Given the description of an element on the screen output the (x, y) to click on. 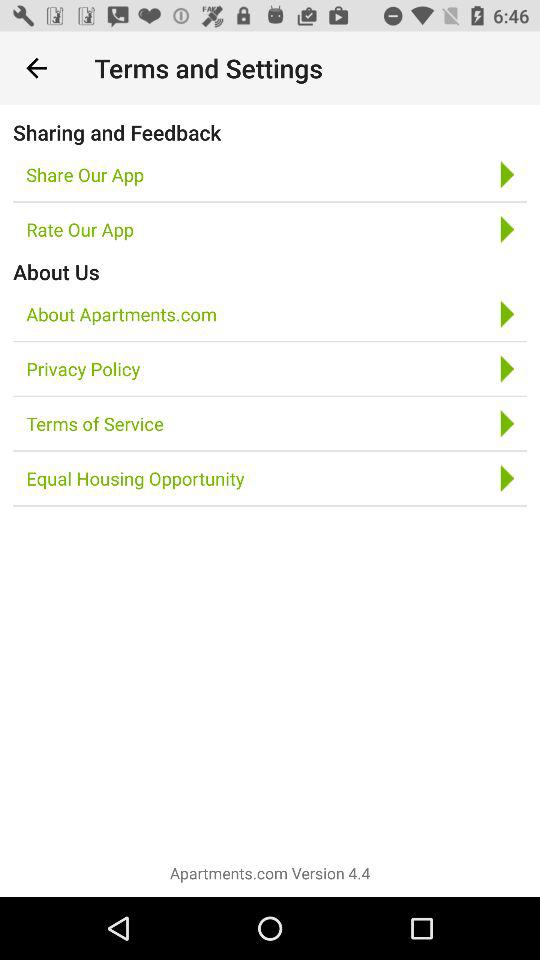
turn off icon above sharing and feedback item (36, 68)
